Given the description of an element on the screen output the (x, y) to click on. 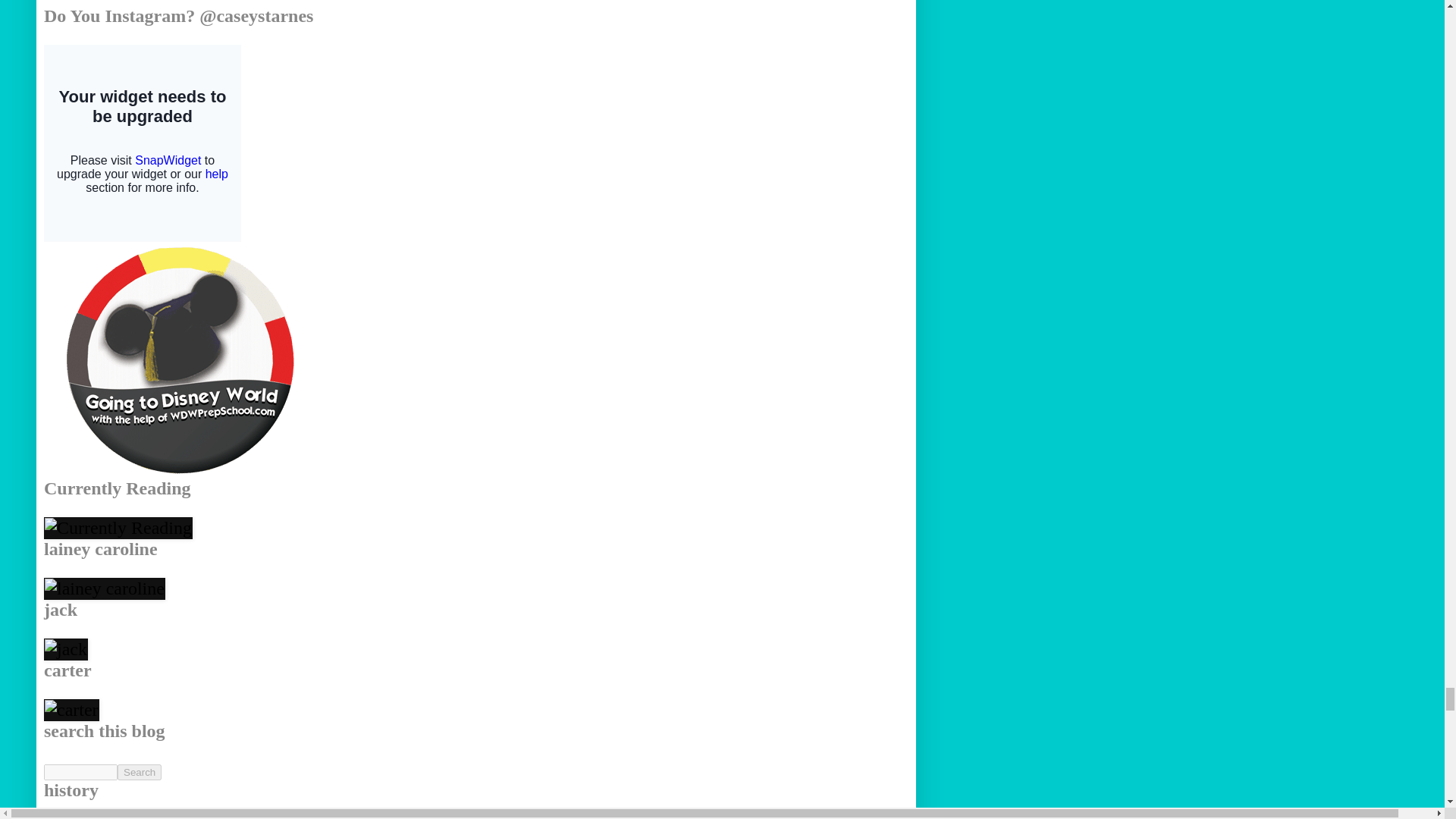
Search (139, 772)
Search (139, 772)
